Given the description of an element on the screen output the (x, y) to click on. 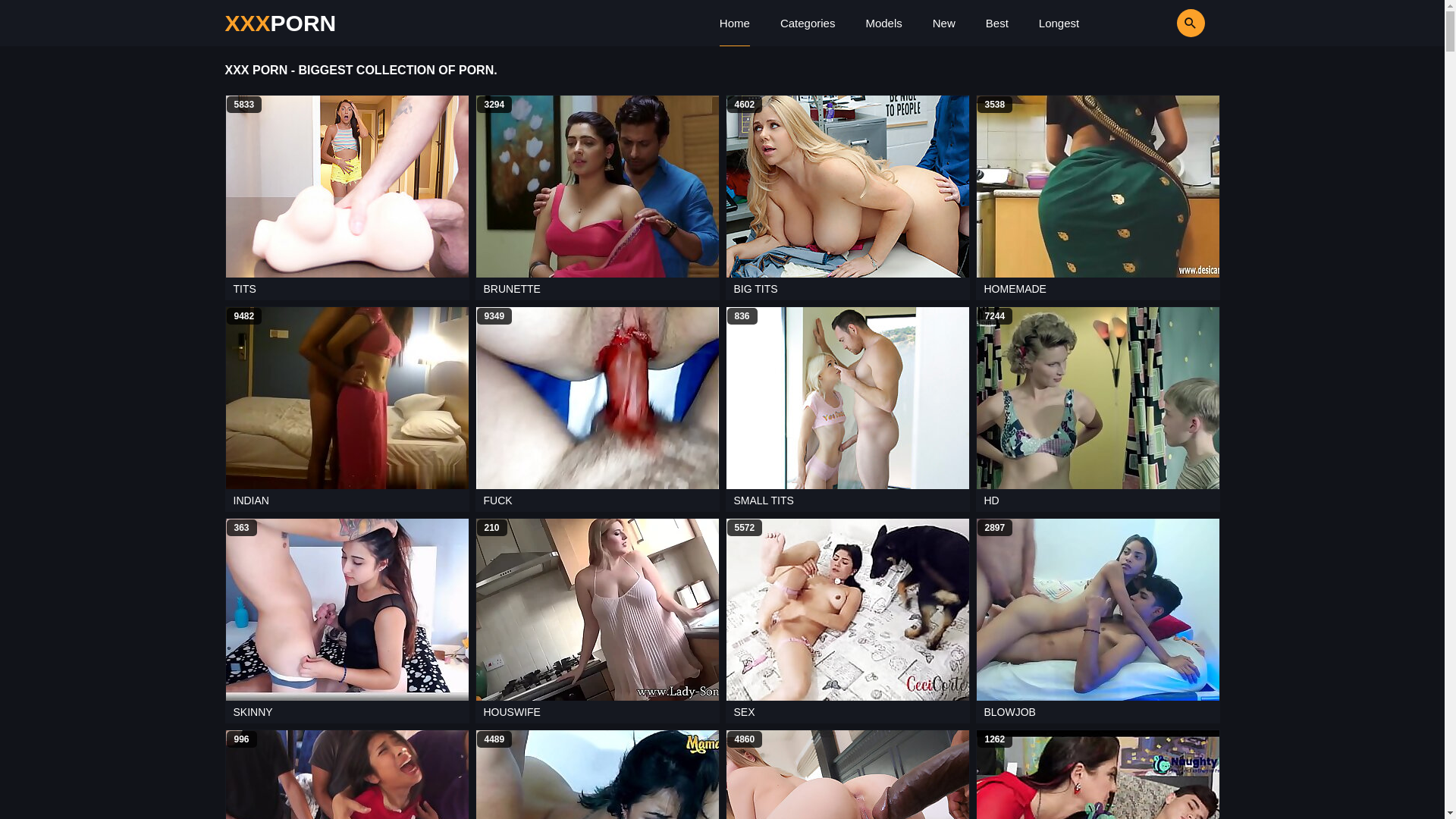
Categories Element type: text (807, 22)
Best Element type: text (996, 22)
3294
BRUNETTE Element type: text (596, 197)
Longest Element type: text (1058, 22)
836
SMALL TITS Element type: text (846, 408)
5572
SEX Element type: text (846, 620)
Models Element type: text (883, 22)
Home Element type: text (734, 22)
363
SKINNY Element type: text (346, 620)
9349
FUCK Element type: text (596, 408)
Search Element type: text (1146, 23)
2897
BLOWJOB Element type: text (1097, 620)
XXXPORN Element type: text (279, 23)
New Element type: text (943, 22)
4602
BIG TITS Element type: text (846, 197)
5833
TITS Element type: text (346, 197)
210
HOUSWIFE Element type: text (596, 620)
7244
HD Element type: text (1097, 408)
9482
INDIAN Element type: text (346, 408)
3538
HOMEMADE Element type: text (1097, 197)
